Given the description of an element on the screen output the (x, y) to click on. 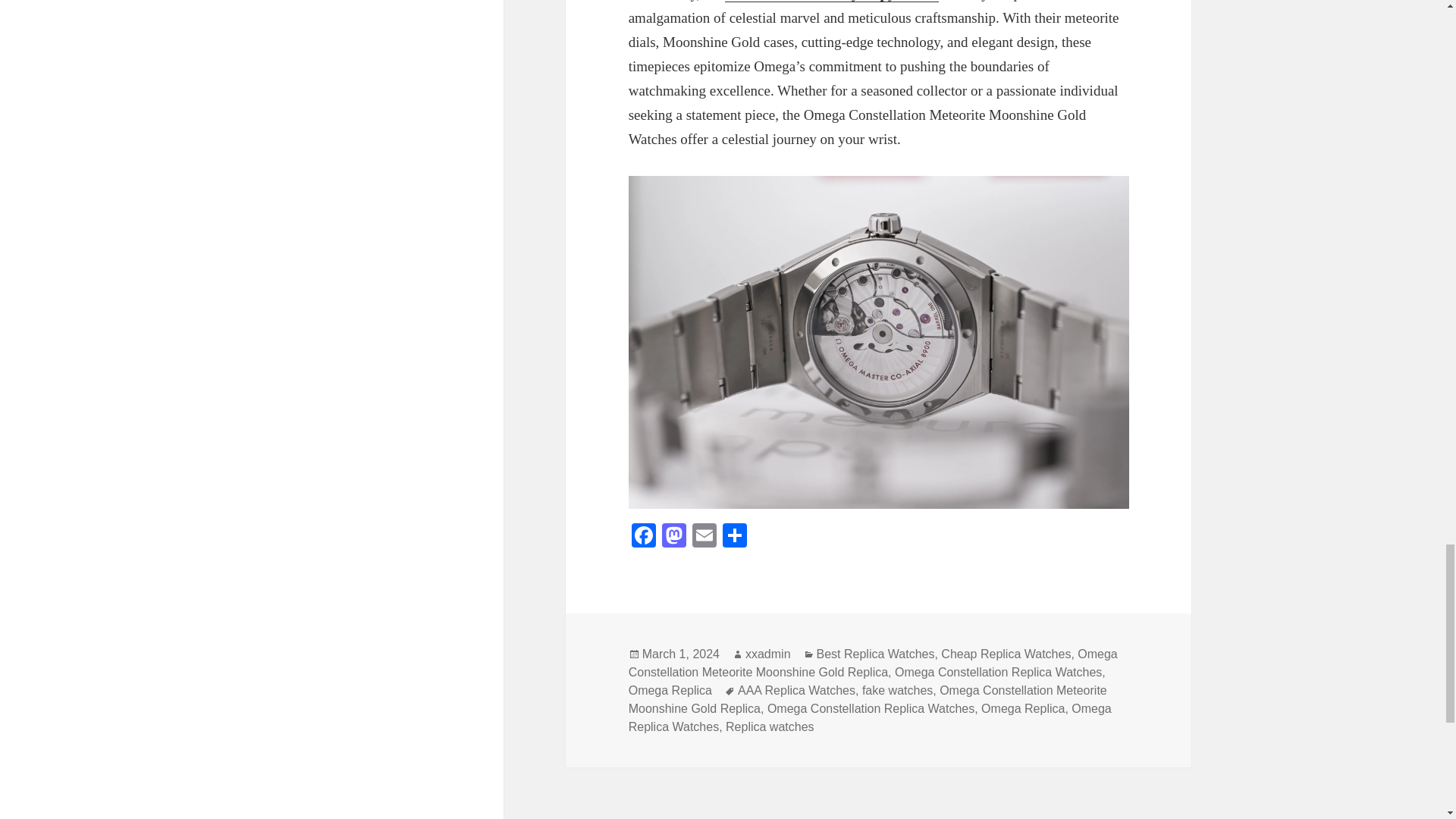
Mastodon (673, 537)
Email (703, 537)
Facebook (643, 537)
